Given the description of an element on the screen output the (x, y) to click on. 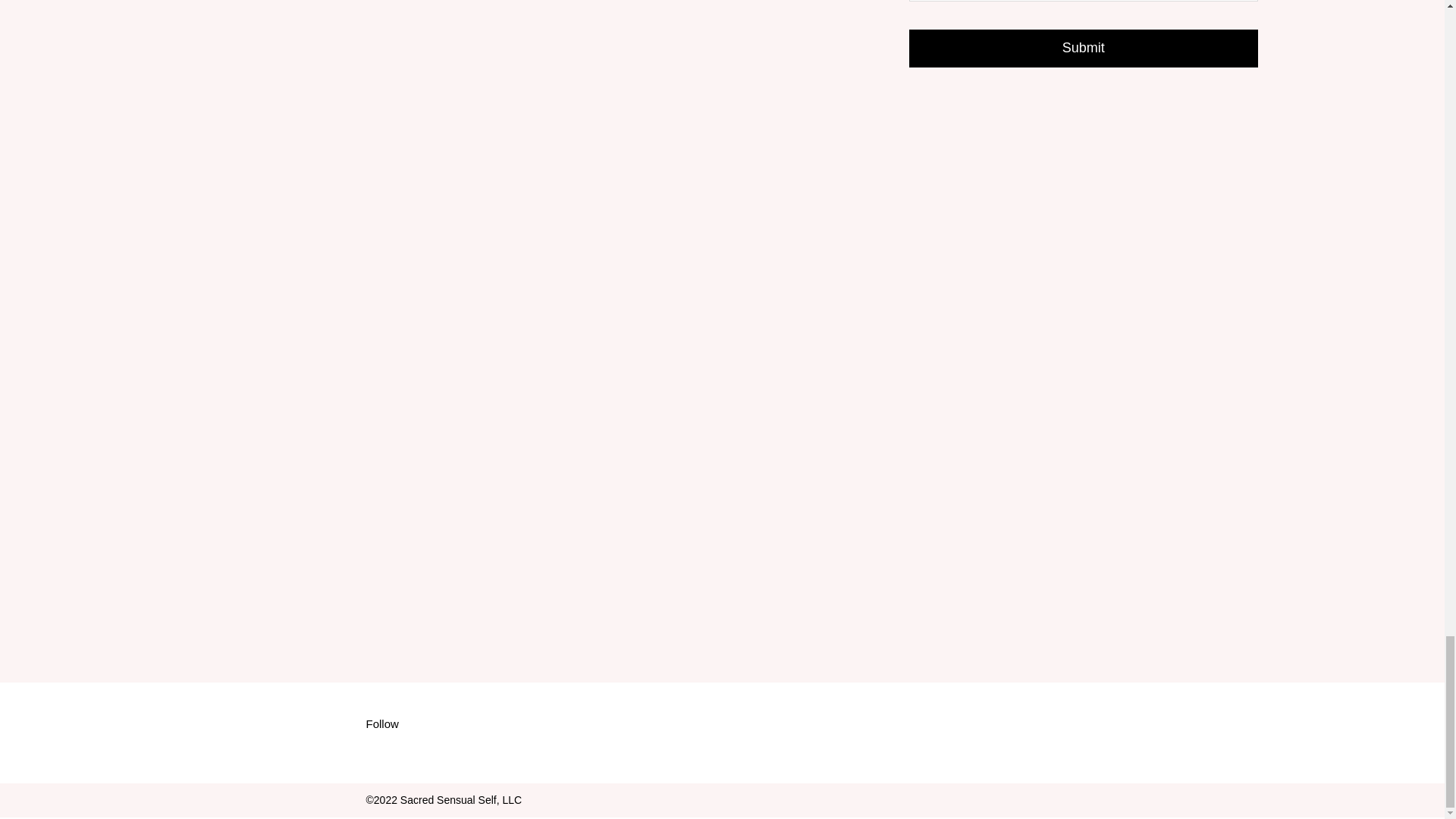
Submit (1082, 48)
